Given the description of an element on the screen output the (x, y) to click on. 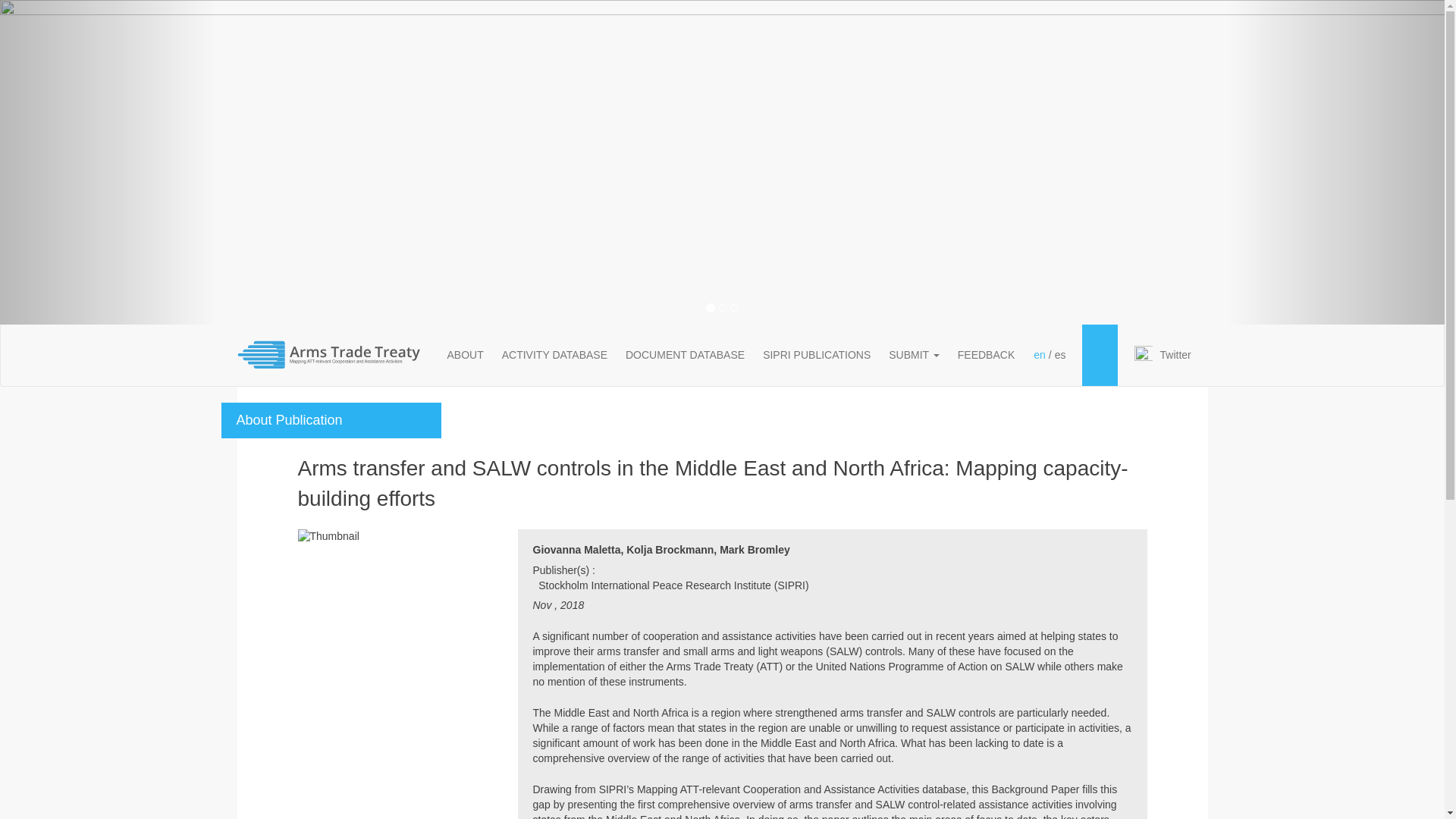
Activity Database Page (554, 354)
FEEDBACK (986, 354)
Twitter (1175, 354)
ACTIVITY DATABASE (554, 354)
en (1039, 354)
ABOUT (465, 354)
SIPRI PUBLICATIONS (816, 354)
SUBMIT (914, 354)
es (1059, 354)
